Given the description of an element on the screen output the (x, y) to click on. 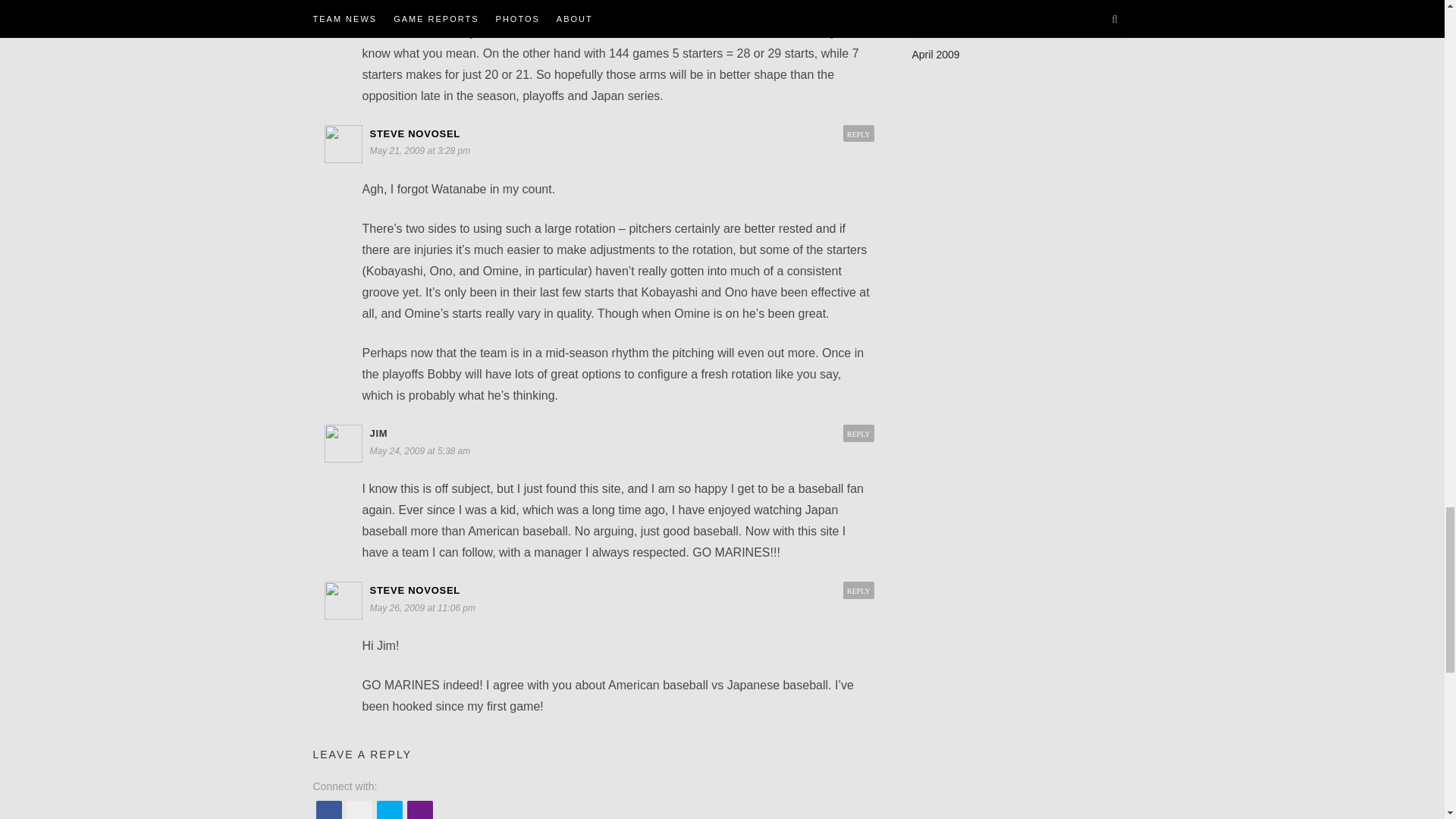
STEVE NOVOSEL (415, 133)
May 24, 2009 at 5:38 am (421, 450)
Login with Social Networks (593, 808)
REPLY (859, 134)
REPLY (859, 433)
May 21, 2009 at 3:28 pm (421, 150)
